Given the description of an element on the screen output the (x, y) to click on. 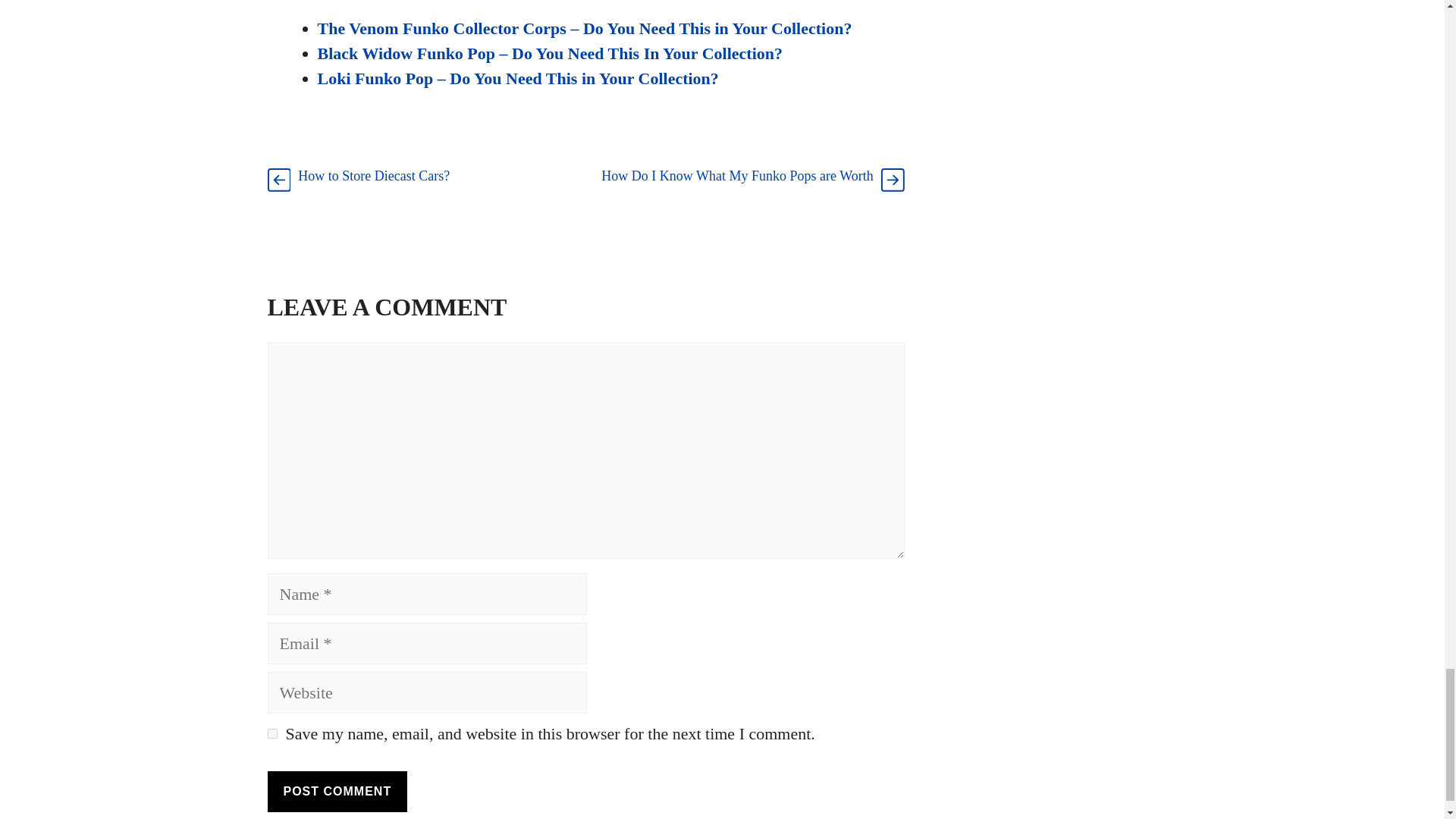
yes (271, 733)
Post Comment (336, 791)
How to Store Diecast Cars? (373, 175)
Post Comment (336, 791)
How Do I Know What My Funko Pops are Worth (736, 175)
